Given the description of an element on the screen output the (x, y) to click on. 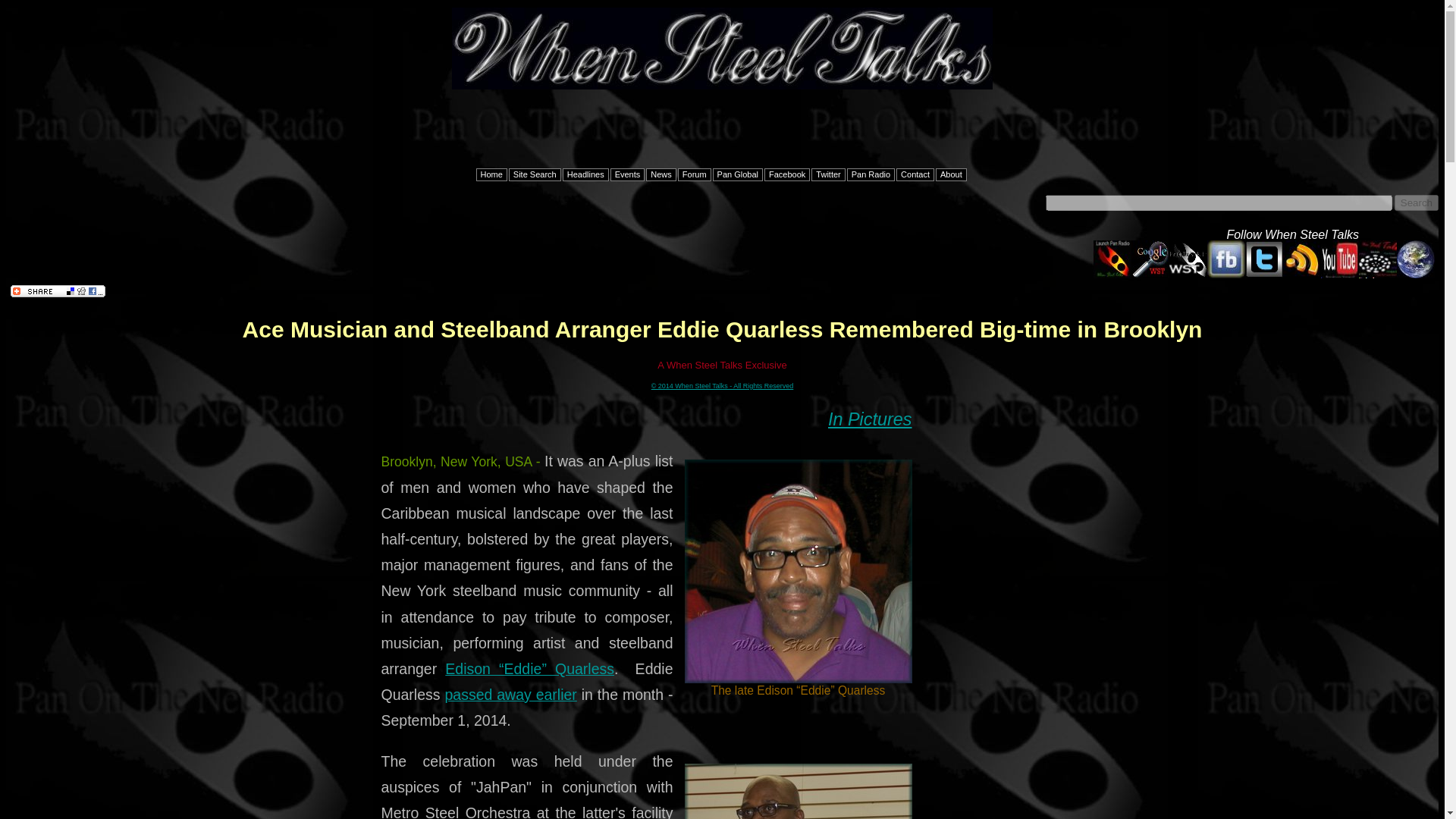
Site Search (534, 174)
Pan Radio Steelpan Music 24-7 (1112, 274)
News (661, 174)
Facebook (786, 174)
Contact (915, 174)
When Steel Talks on Twitter (1263, 274)
When Steel Talks on You Tube (1339, 274)
Twitter (827, 174)
Pan Global (737, 174)
Recieve WST's newsletter (1377, 274)
Home (491, 174)
About (951, 174)
WST RSS feed (1301, 274)
When Steel Talks network (1188, 274)
